Given the description of an element on the screen output the (x, y) to click on. 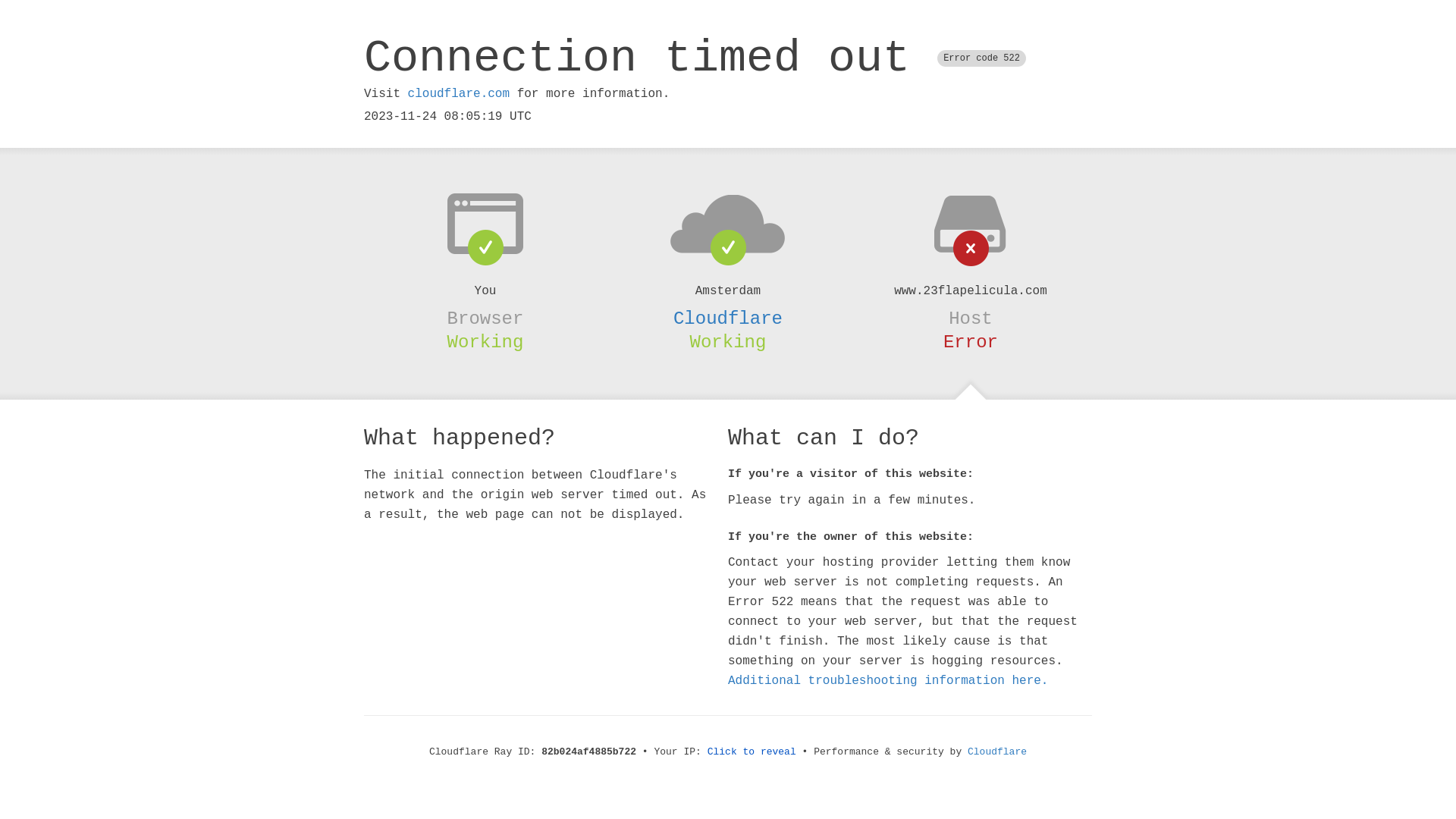
Click to reveal Element type: text (751, 751)
Cloudflare Element type: text (996, 751)
Additional troubleshooting information here. Element type: text (888, 680)
cloudflare.com Element type: text (458, 93)
Cloudflare Element type: text (727, 318)
